Given the description of an element on the screen output the (x, y) to click on. 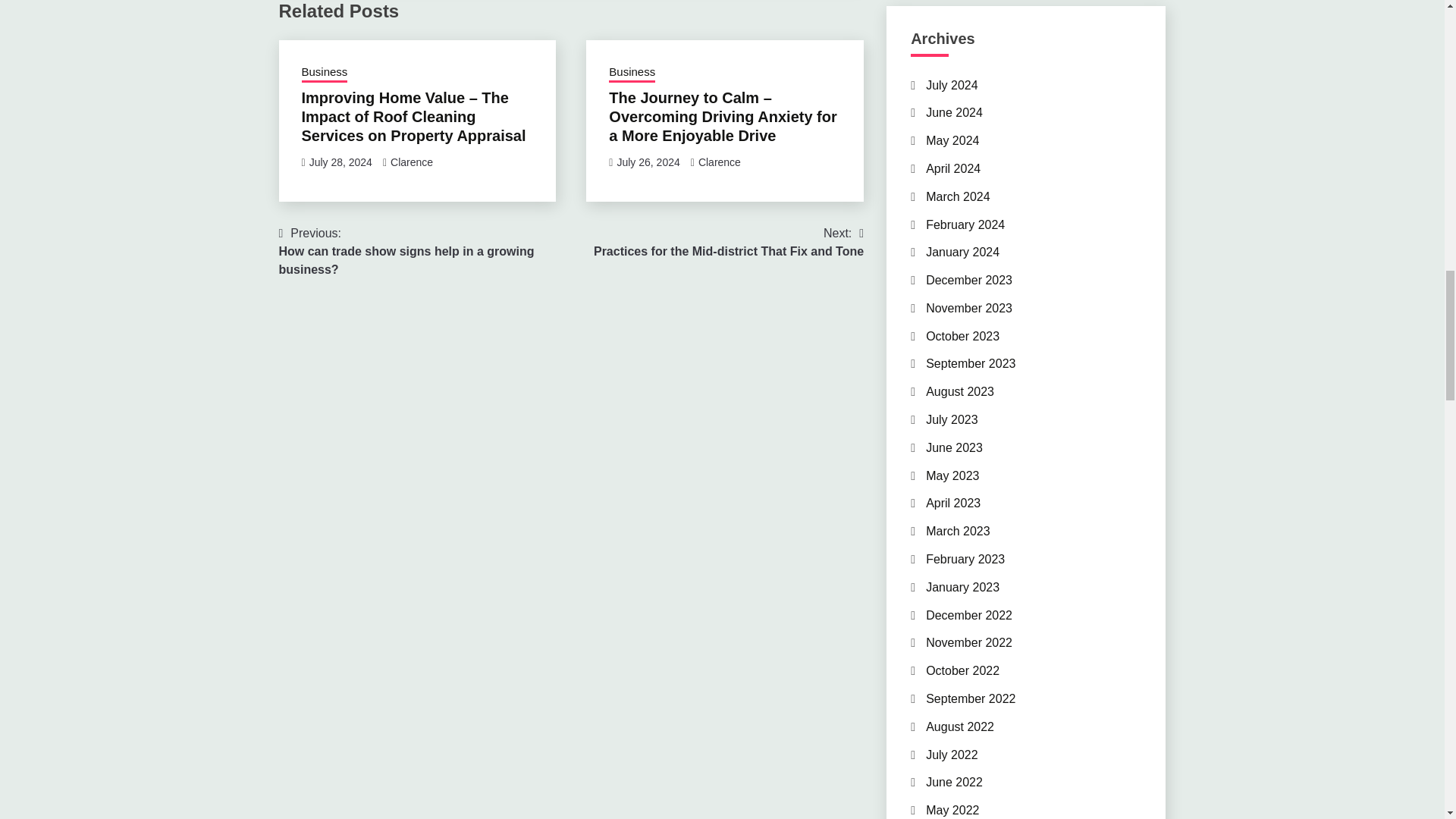
Clarence (719, 162)
July 26, 2024 (647, 162)
Business (631, 73)
July 28, 2024 (340, 162)
Clarence (728, 242)
June 2024 (411, 162)
July 2024 (954, 112)
Business (952, 84)
